Given the description of an element on the screen output the (x, y) to click on. 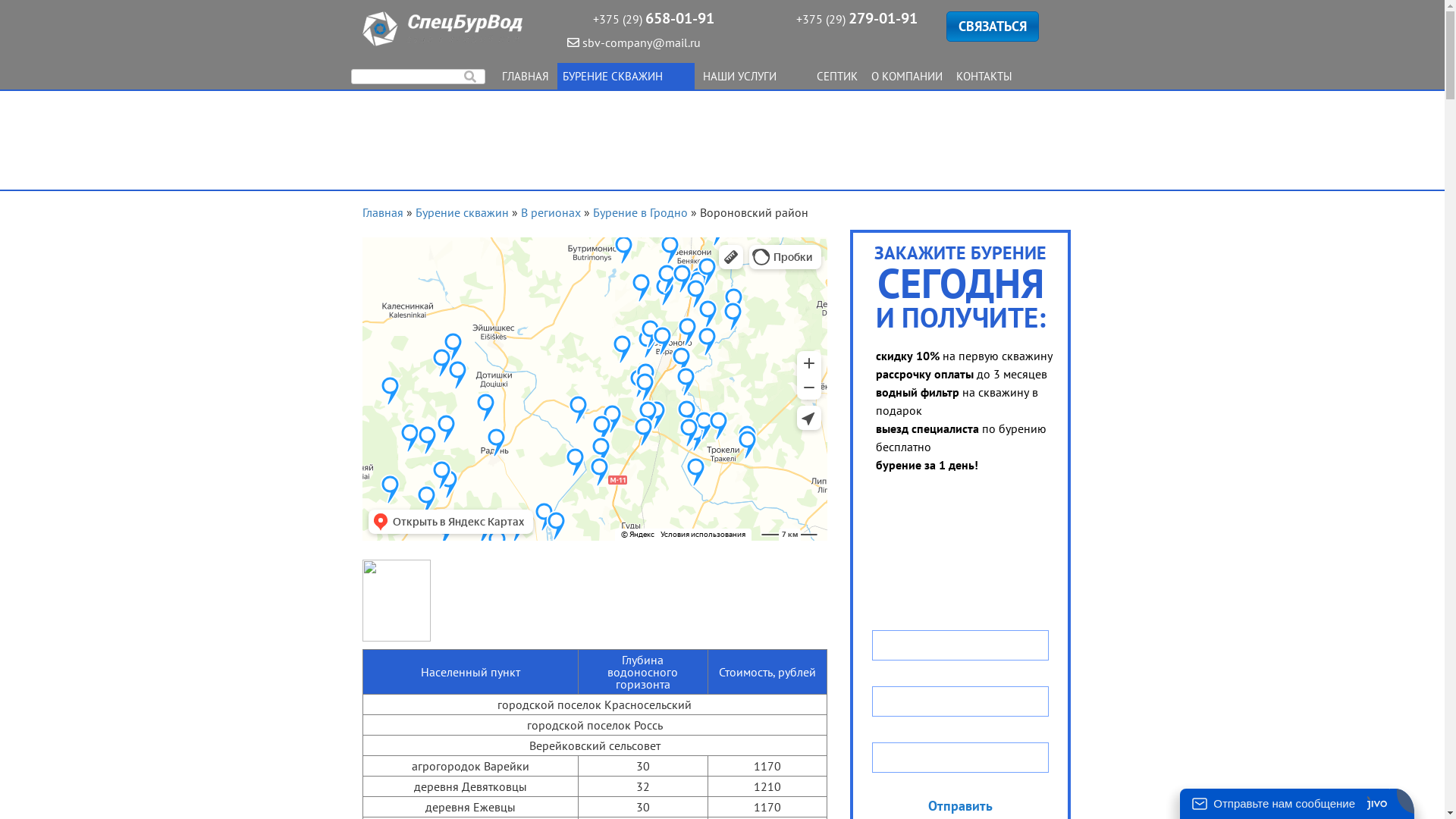
+375 (29) 658-01-91 Element type: text (653, 18)
sbv-company@mail.ru Element type: text (633, 42)
+375 (29) 279-01-91 Element type: text (856, 18)
